Given the description of an element on the screen output the (x, y) to click on. 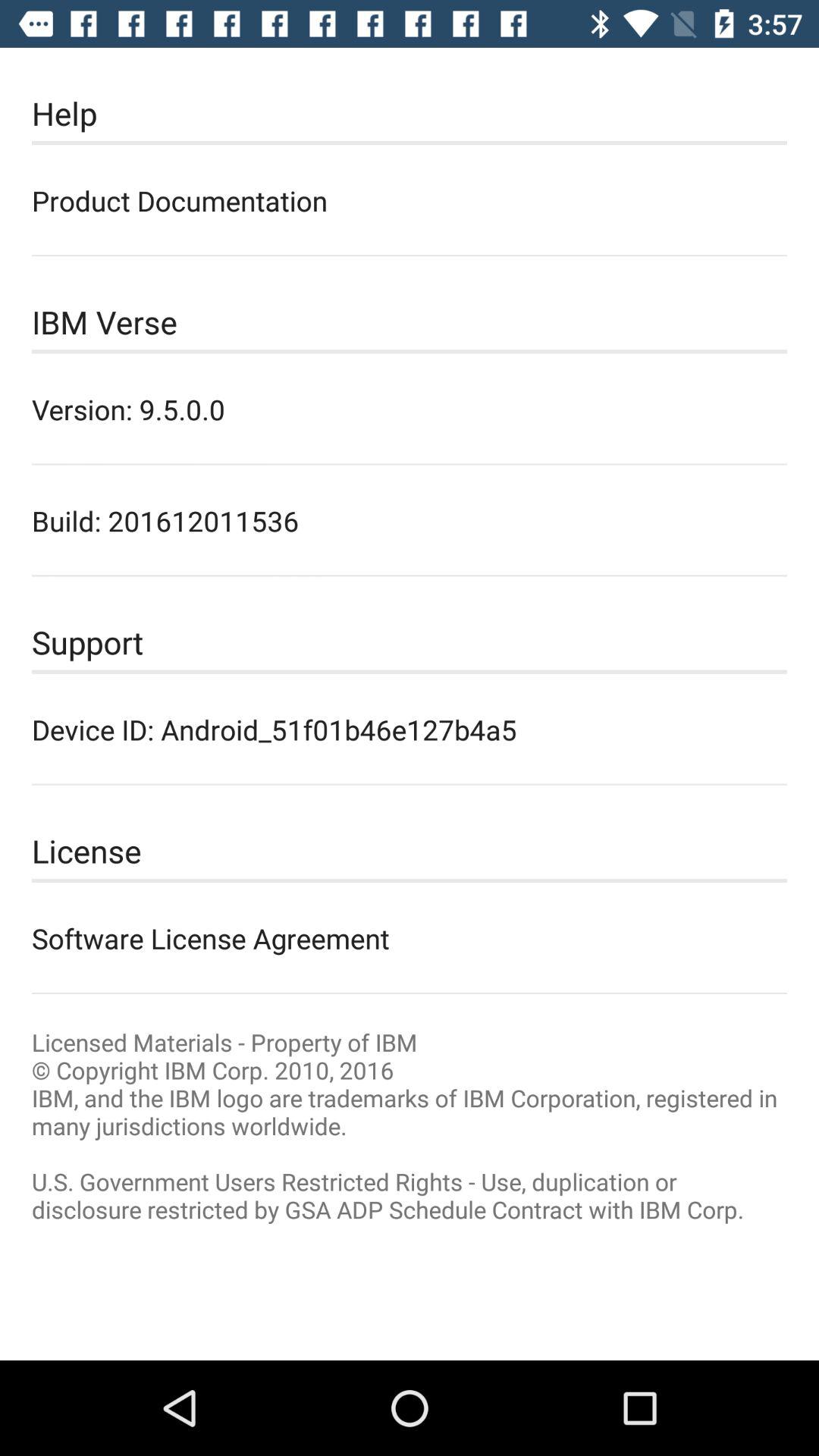
turn on icon above the ibm verse item (409, 200)
